Given the description of an element on the screen output the (x, y) to click on. 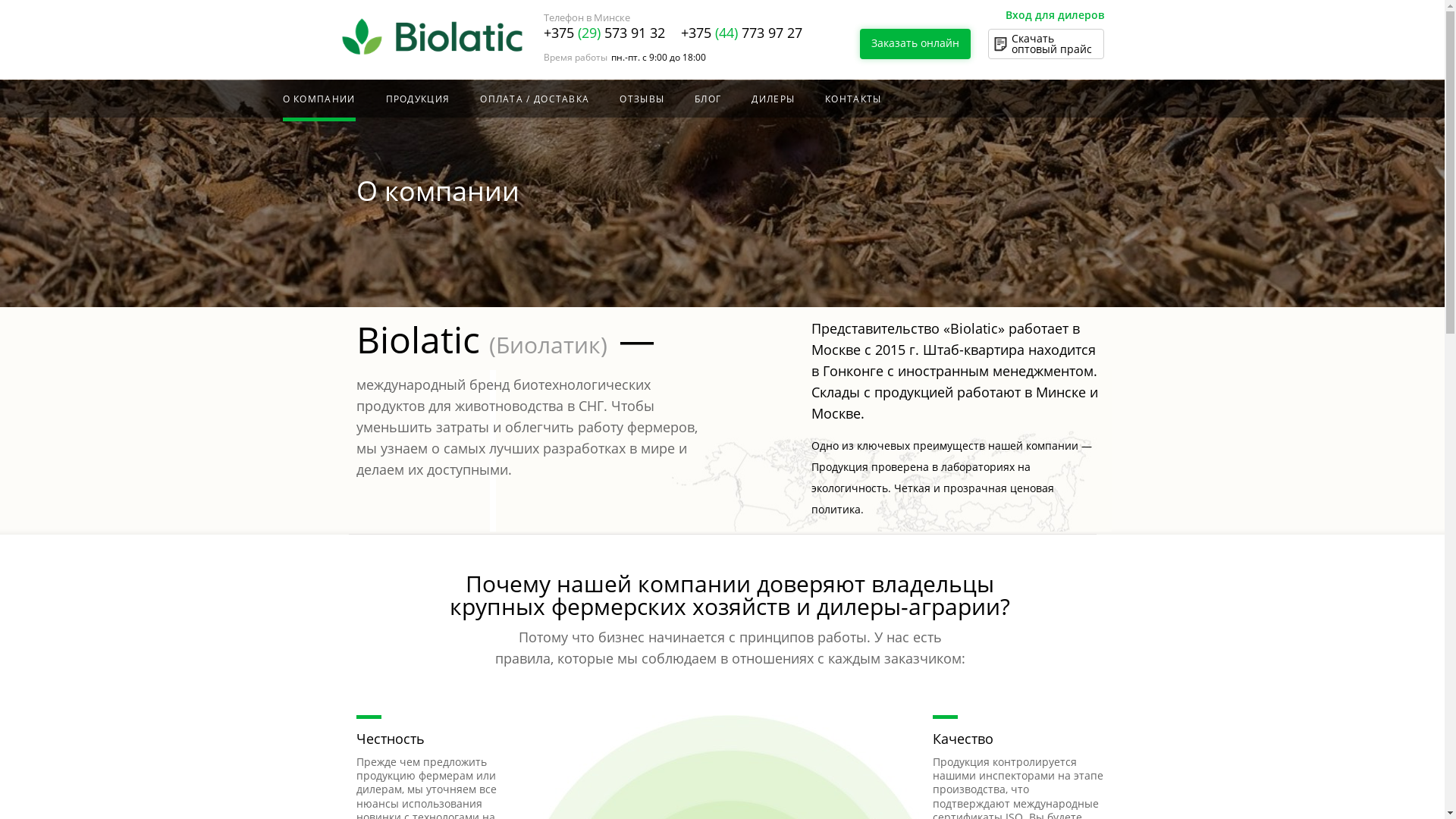
+375 (29) 573 91 32 Element type: text (603, 32)
+375 (44) 773 97 27 Element type: text (741, 32)
